Given the description of an element on the screen output the (x, y) to click on. 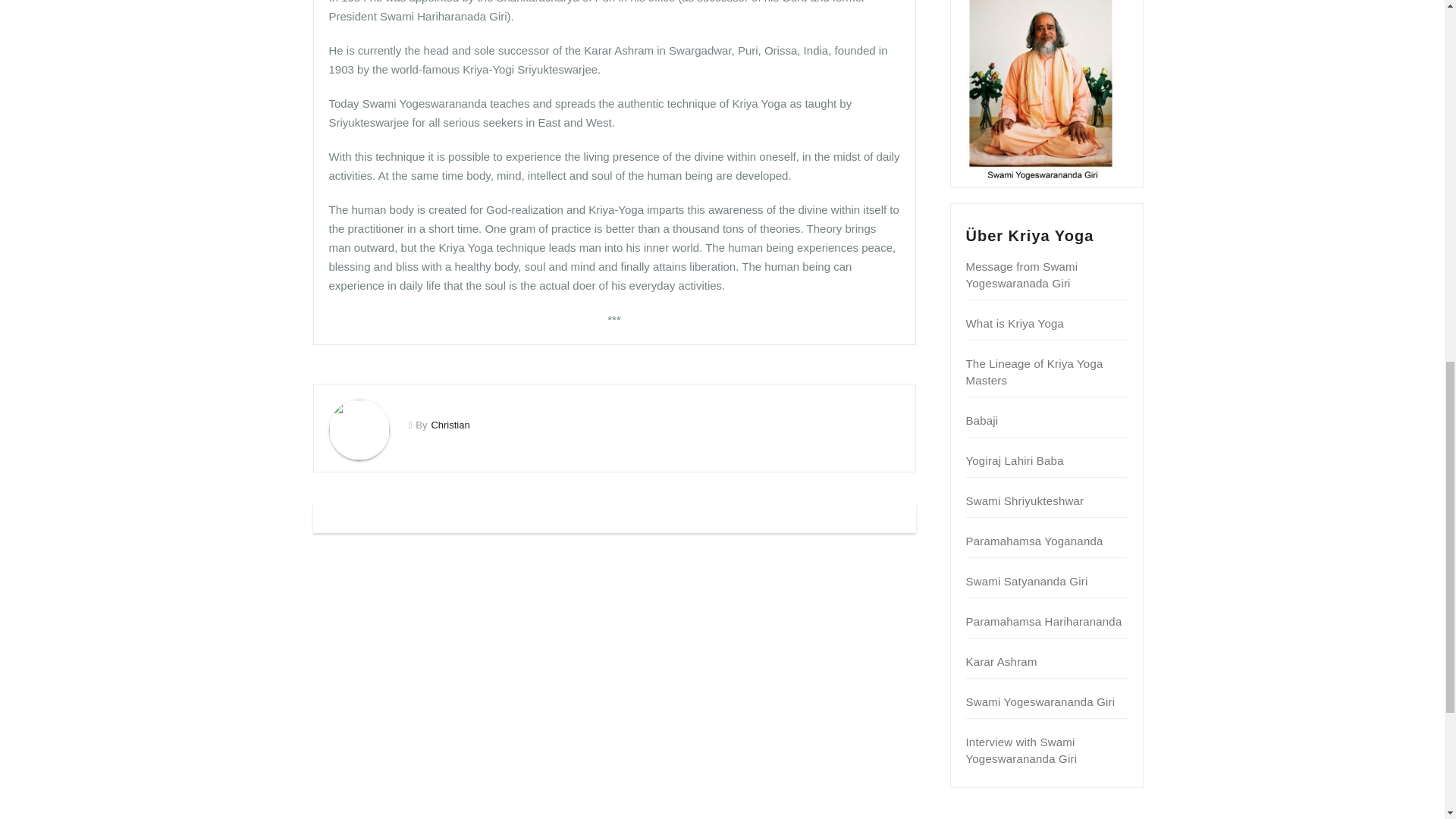
Christian (449, 424)
